Given the description of an element on the screen output the (x, y) to click on. 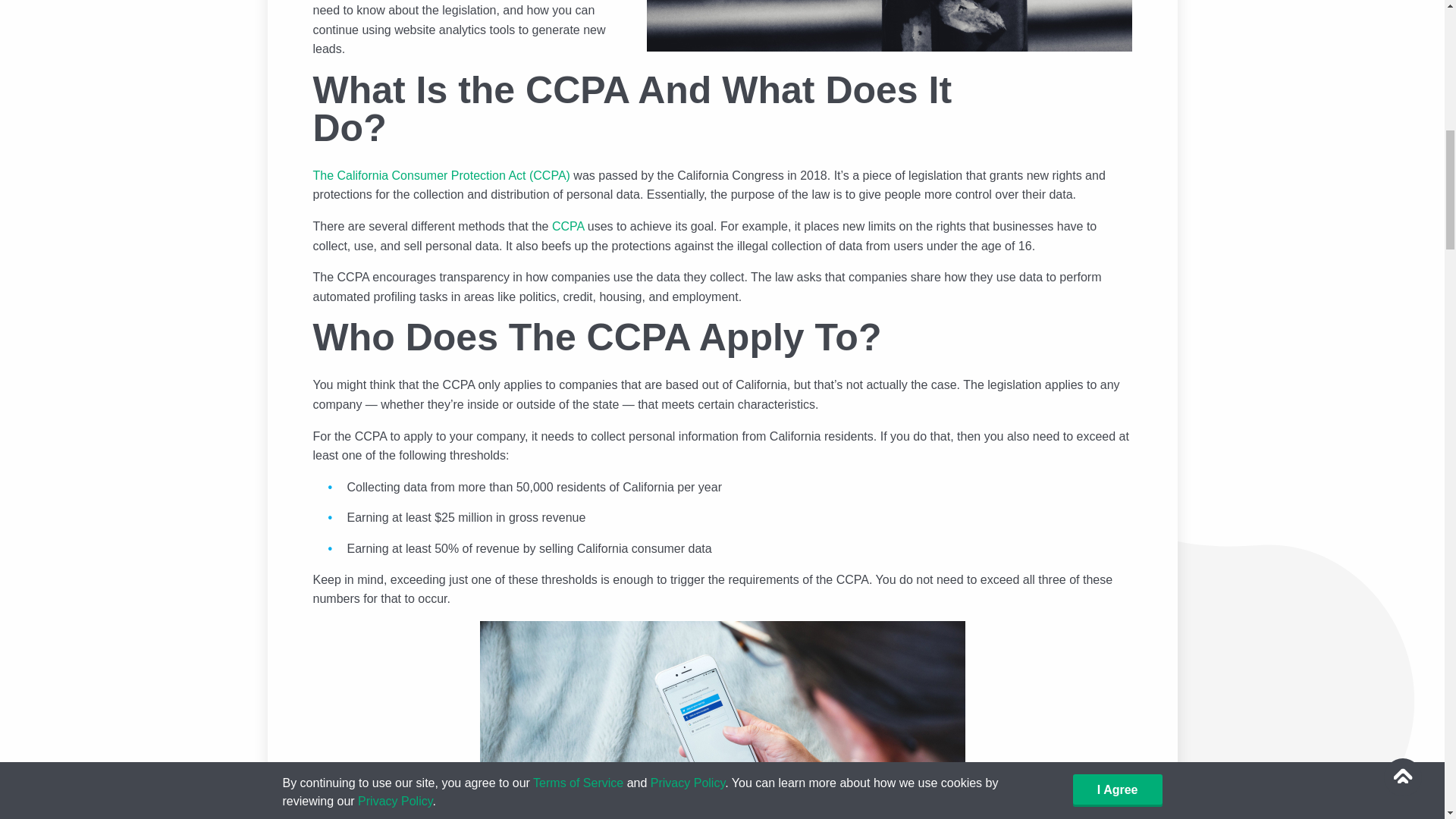
CCPA (567, 226)
